Given the description of an element on the screen output the (x, y) to click on. 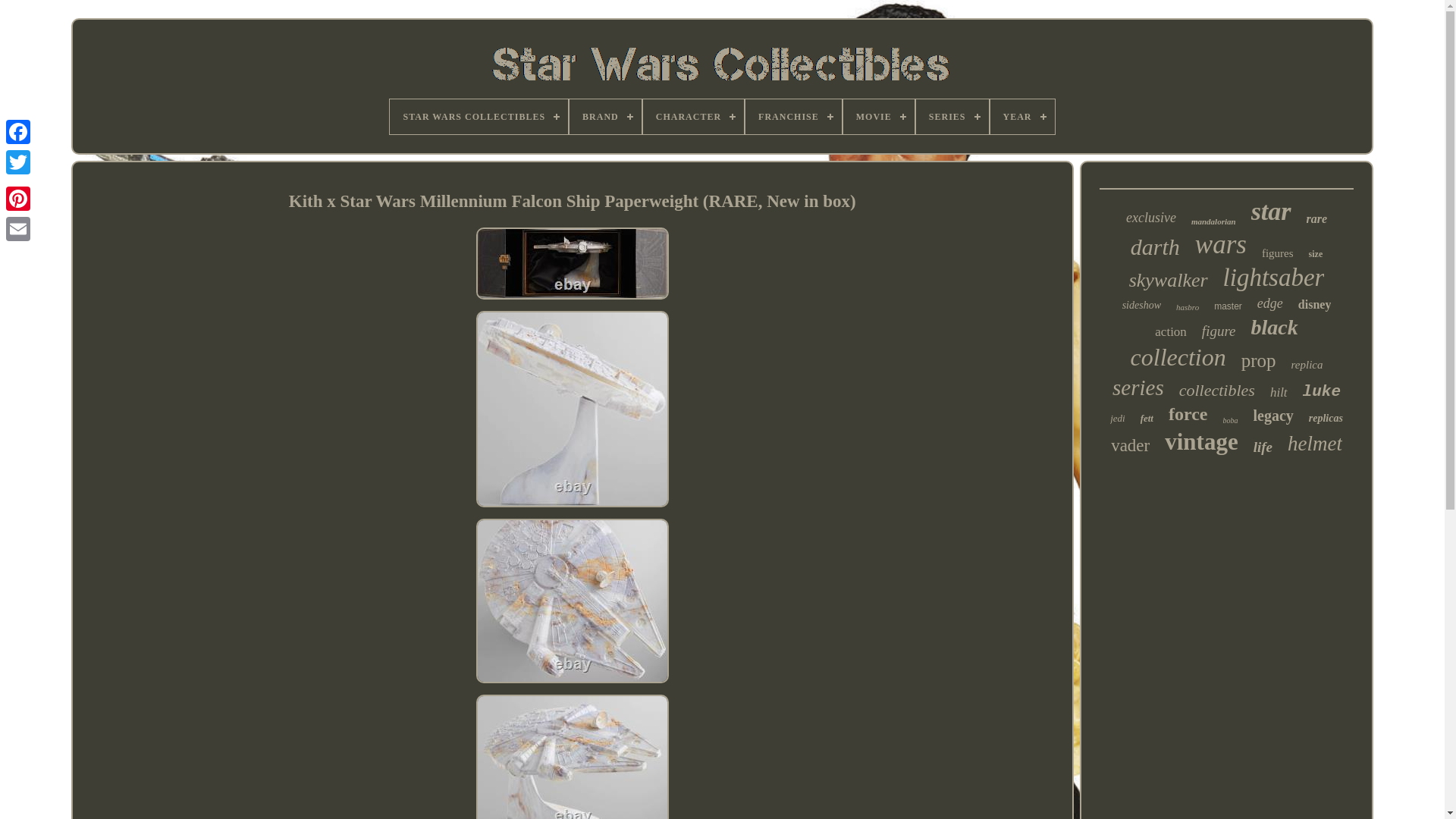
STAR WARS COLLECTIBLES (478, 116)
BRAND (605, 116)
CHARACTER (693, 116)
